Given the description of an element on the screen output the (x, y) to click on. 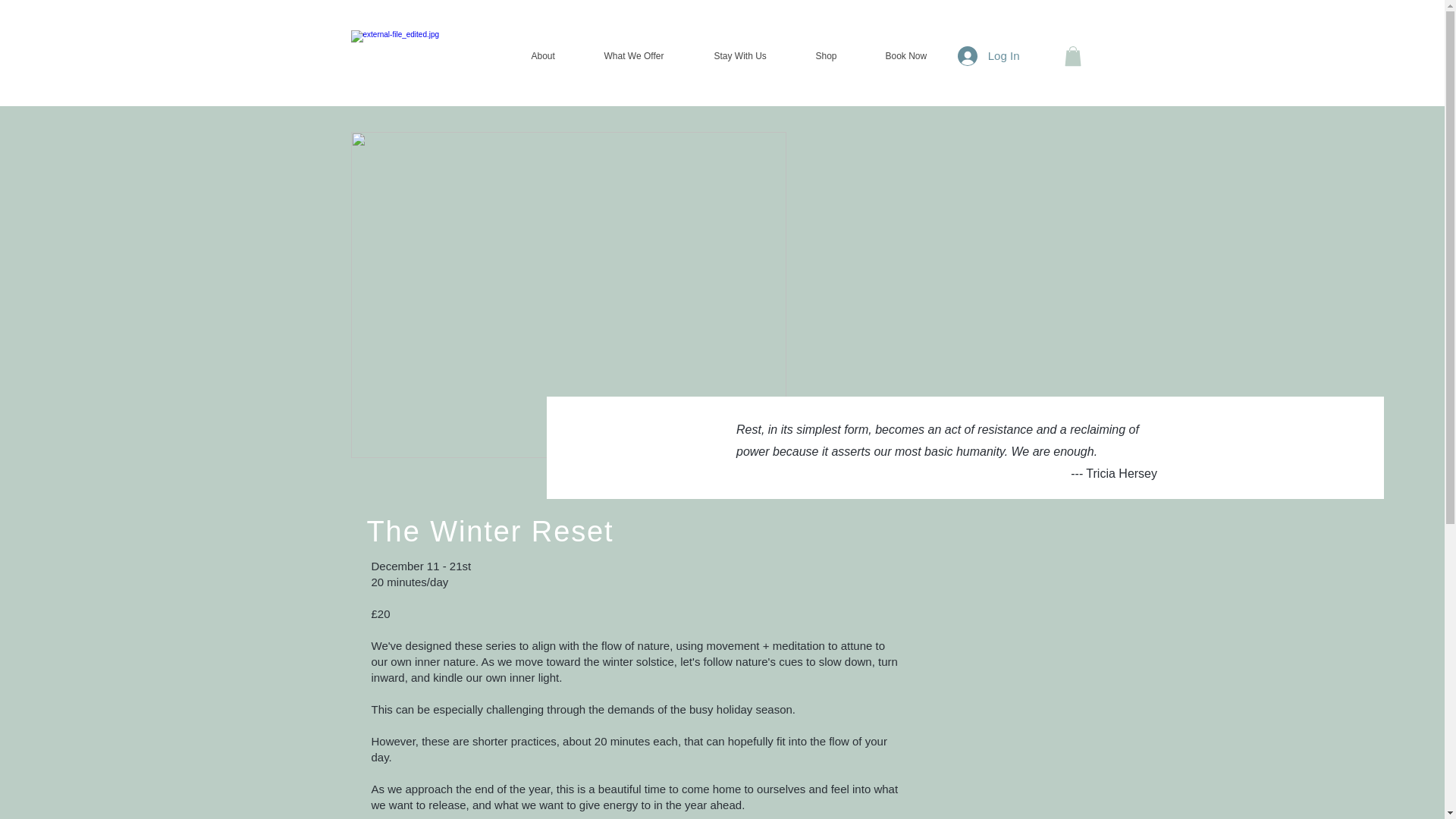
Log In (988, 54)
Shop (838, 55)
Stay With Us (752, 55)
About (555, 55)
What We Offer (646, 55)
Book Now (918, 55)
